Given the description of an element on the screen output the (x, y) to click on. 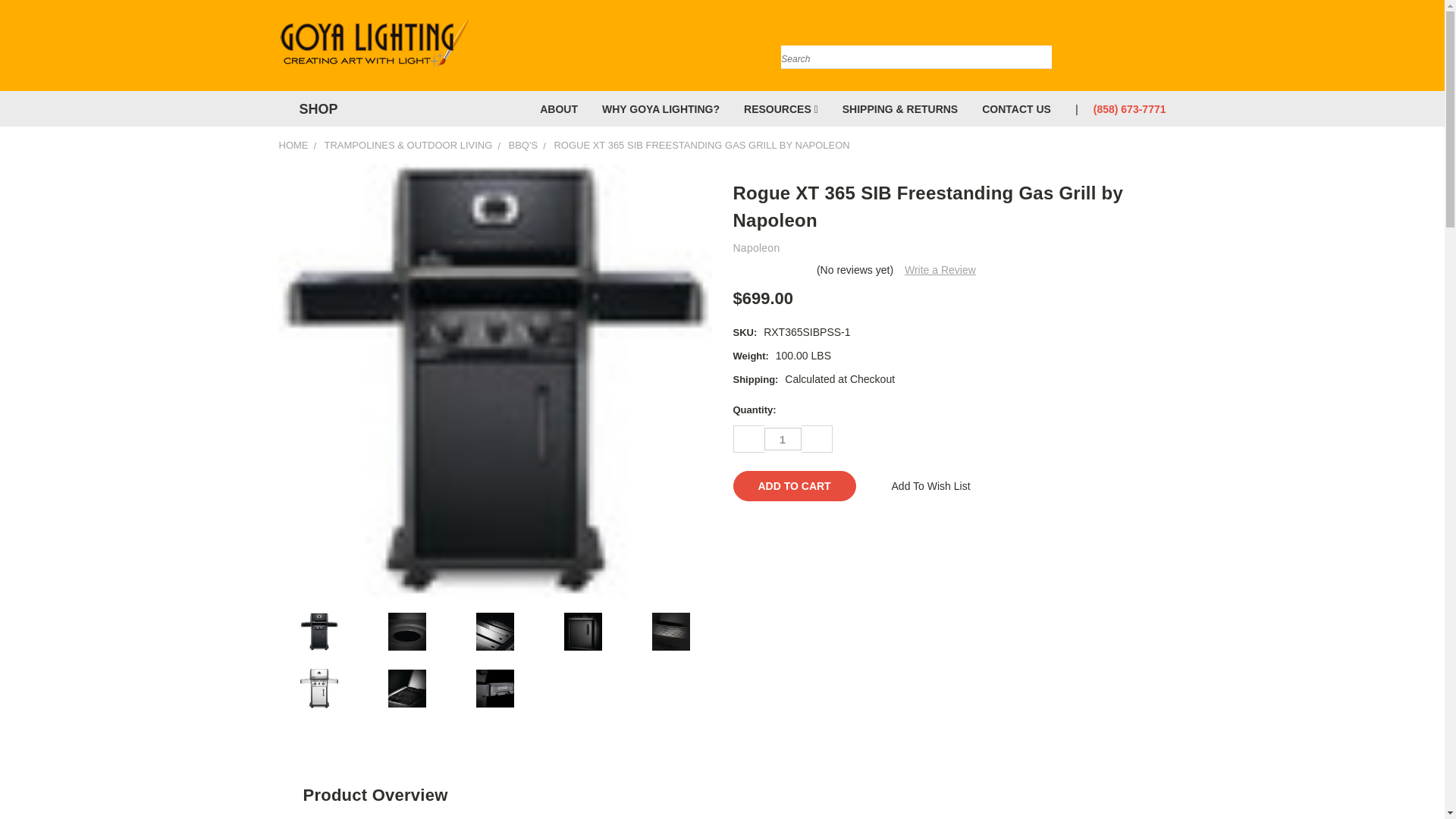
Goya Lighting (373, 45)
Submit Search (1039, 38)
1 (783, 438)
User Toolbox (1135, 48)
SHOP (314, 109)
Add to Cart (794, 485)
